Given the description of an element on the screen output the (x, y) to click on. 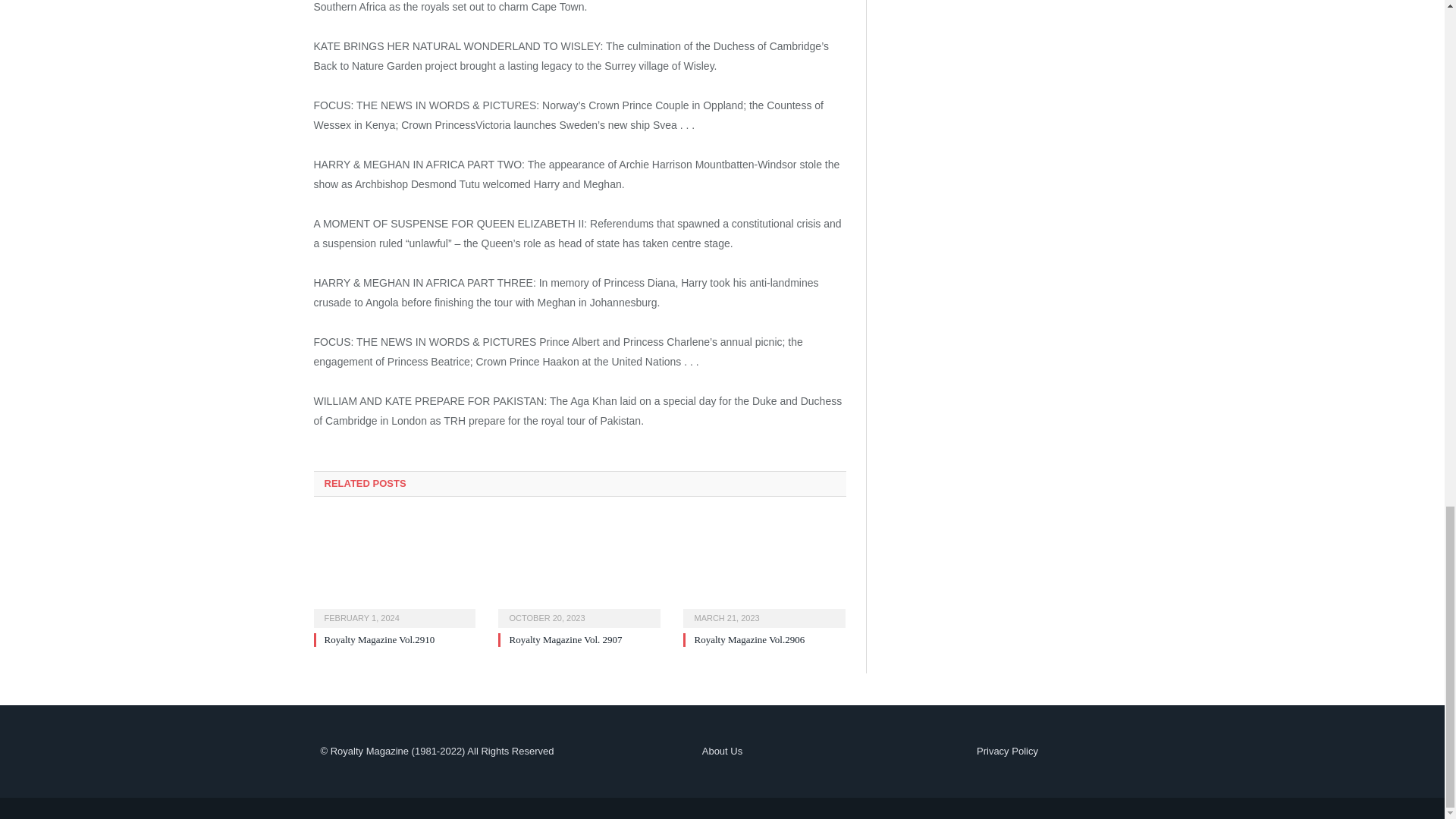
Royalty Magazine Vol. 2907 (579, 570)
Royalty Magazine Vol.2910 (395, 570)
Royalty Magazine Vol.2910 (379, 639)
